Given the description of an element on the screen output the (x, y) to click on. 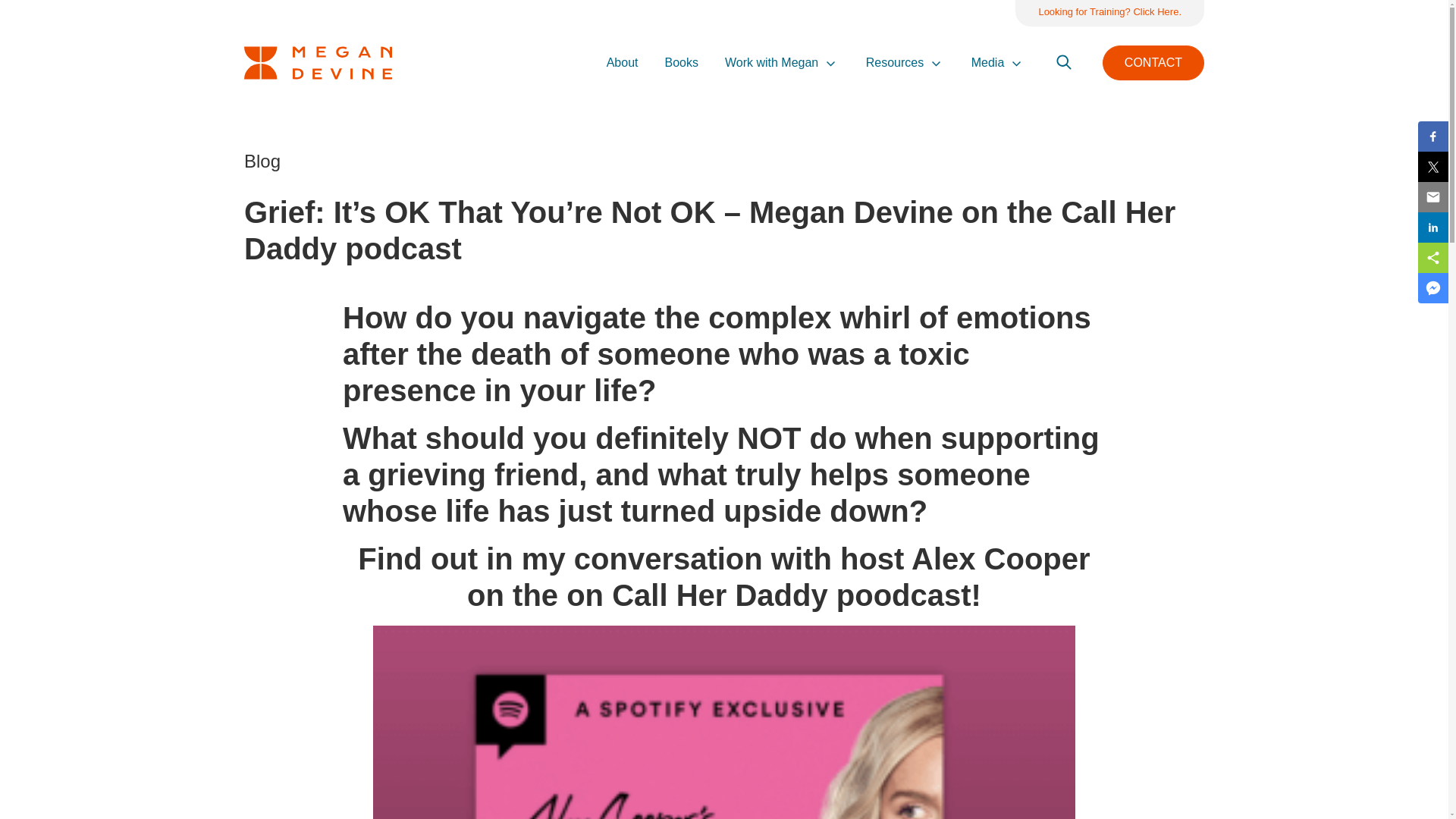
Call Her Daddy poodcast (791, 595)
Looking for Training? Click Here. (1109, 13)
Resources (894, 62)
CONTACT (1153, 62)
Work with Megan (771, 62)
